Given the description of an element on the screen output the (x, y) to click on. 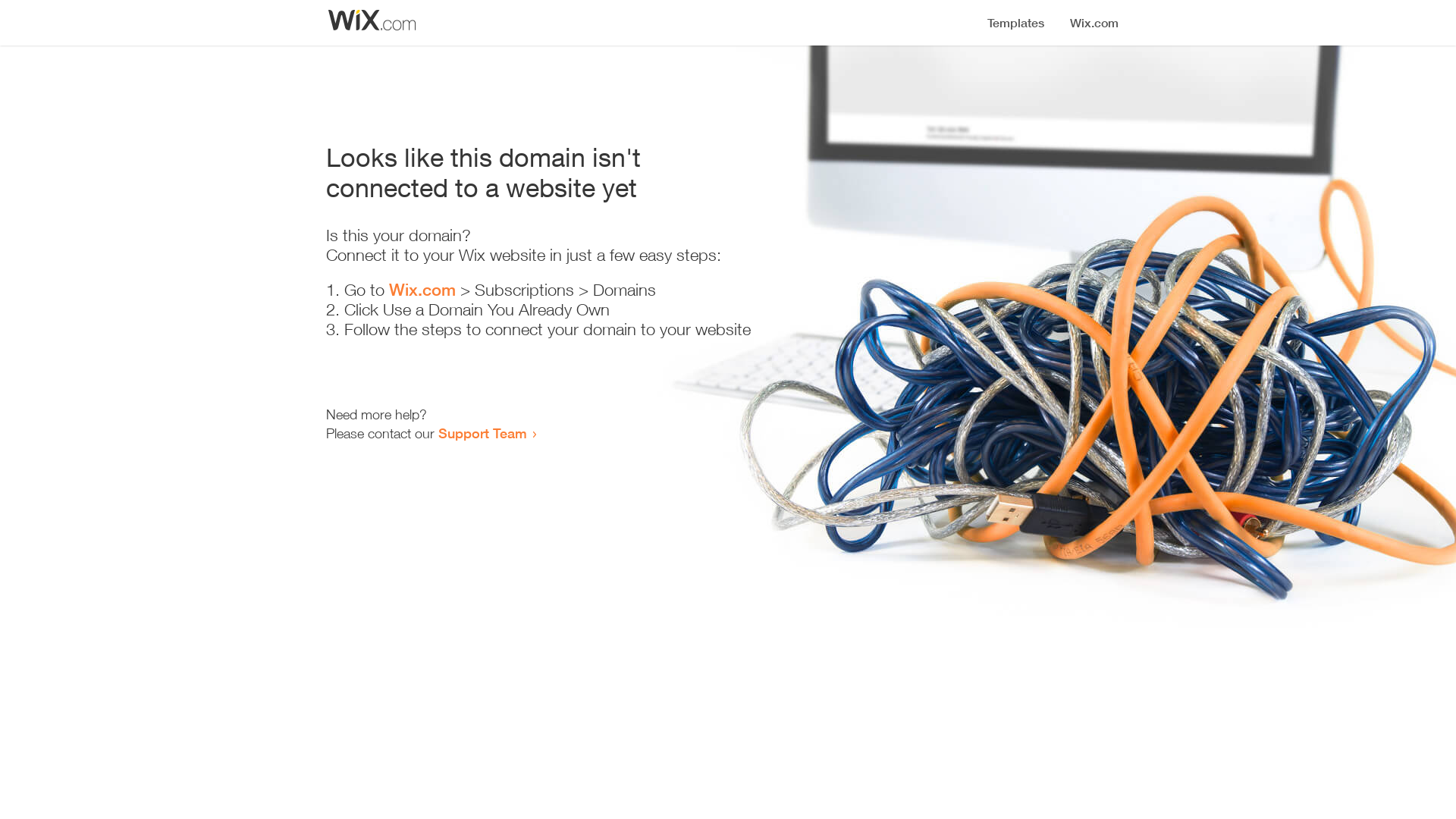
Support Team Element type: text (482, 432)
Wix.com Element type: text (422, 289)
